Given the description of an element on the screen output the (x, y) to click on. 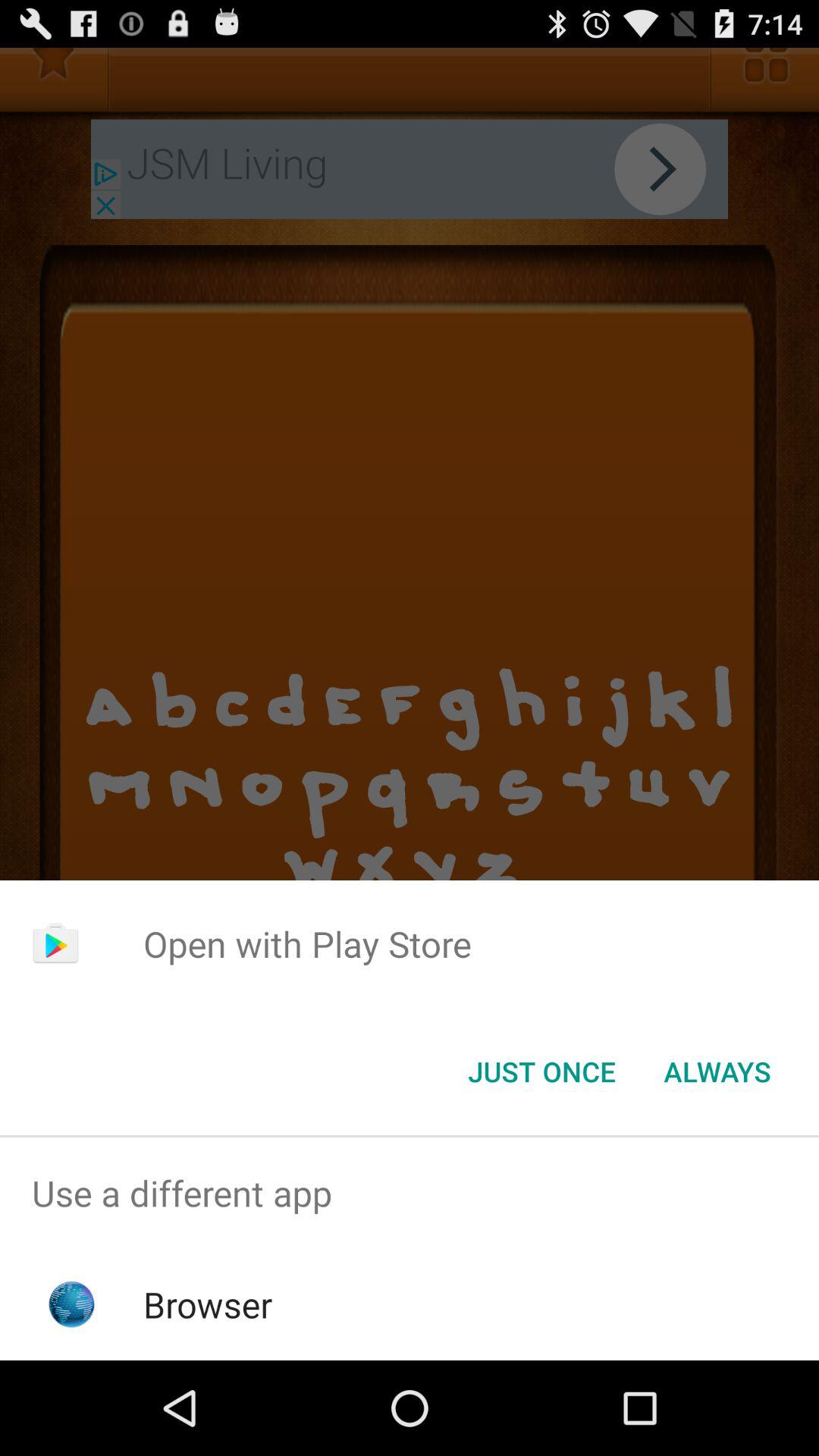
jump to just once button (541, 1071)
